Given the description of an element on the screen output the (x, y) to click on. 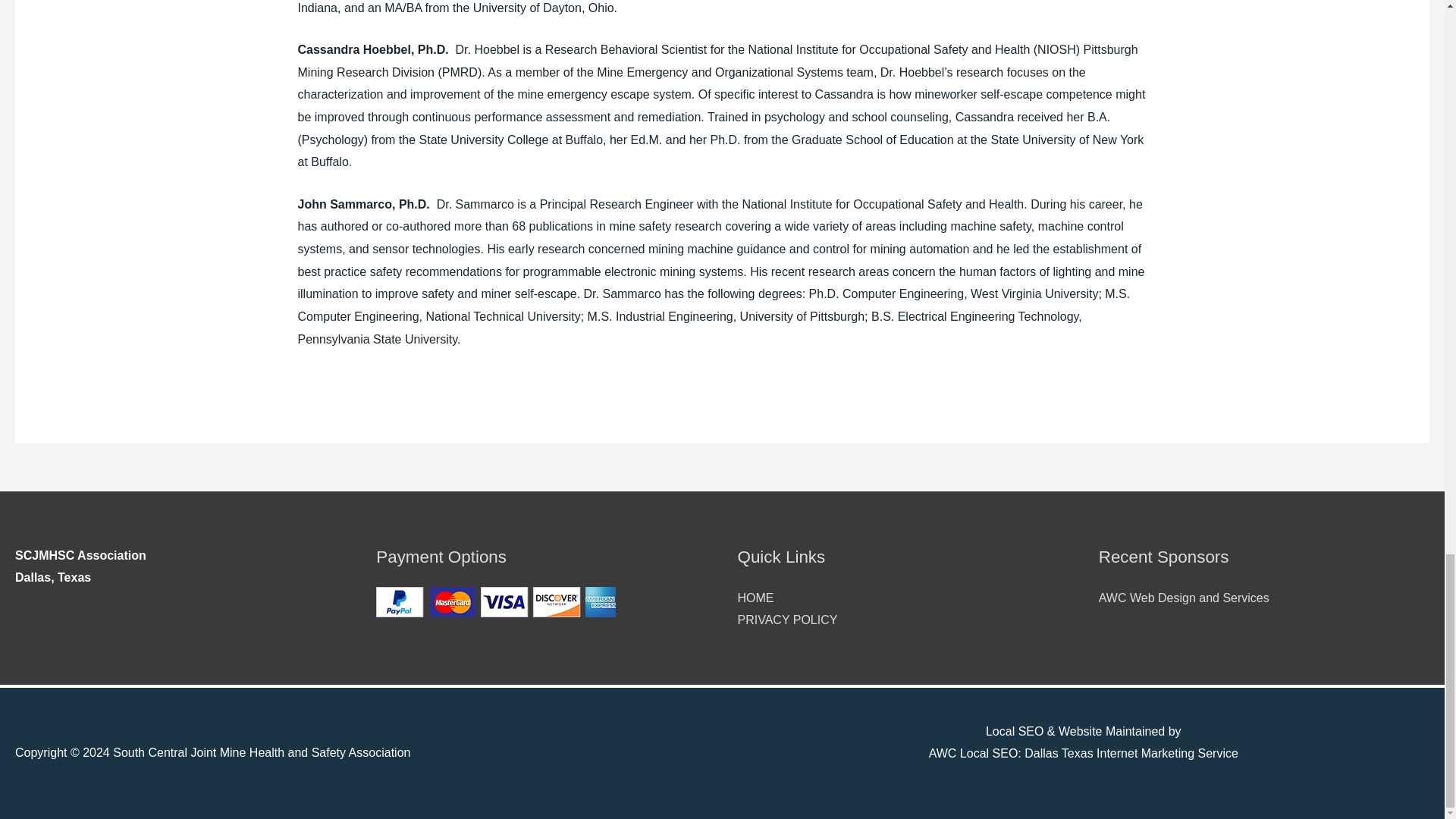
HOME (754, 597)
PRIVACY POLICY (786, 619)
Dallas Texas Internet Marketing Service (1132, 753)
AWC Web Design and Services (1184, 597)
